Given the description of an element on the screen output the (x, y) to click on. 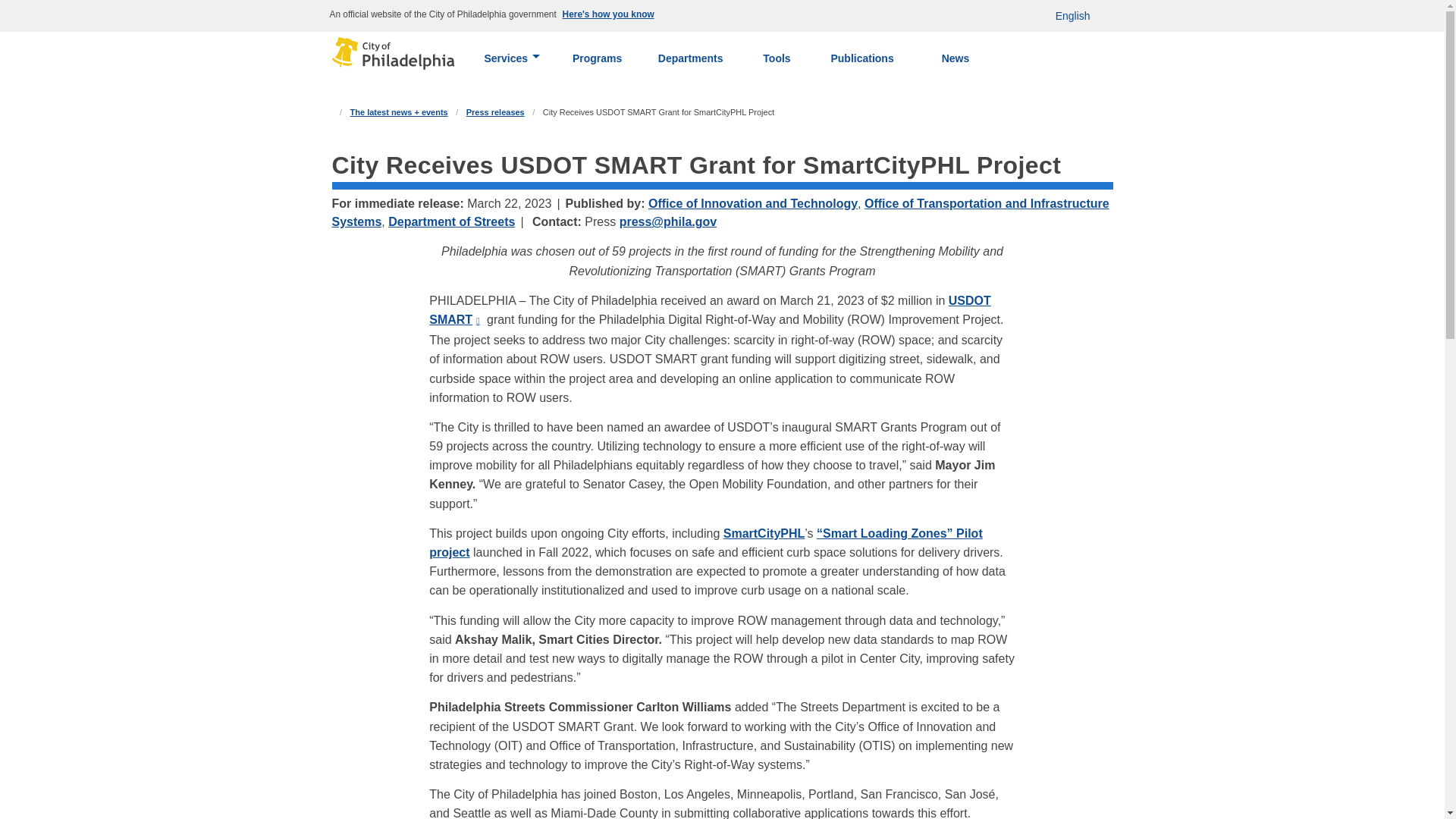
Services (511, 58)
Department of Streets (451, 221)
SmartCityPHL (764, 533)
Here's how you know (610, 15)
News (954, 58)
Office of Transportation and Infrastructure Systems (720, 212)
Office of Innovation and Technology (752, 203)
Programs (597, 58)
Publications (862, 58)
English (1072, 15)
